Given the description of an element on the screen output the (x, y) to click on. 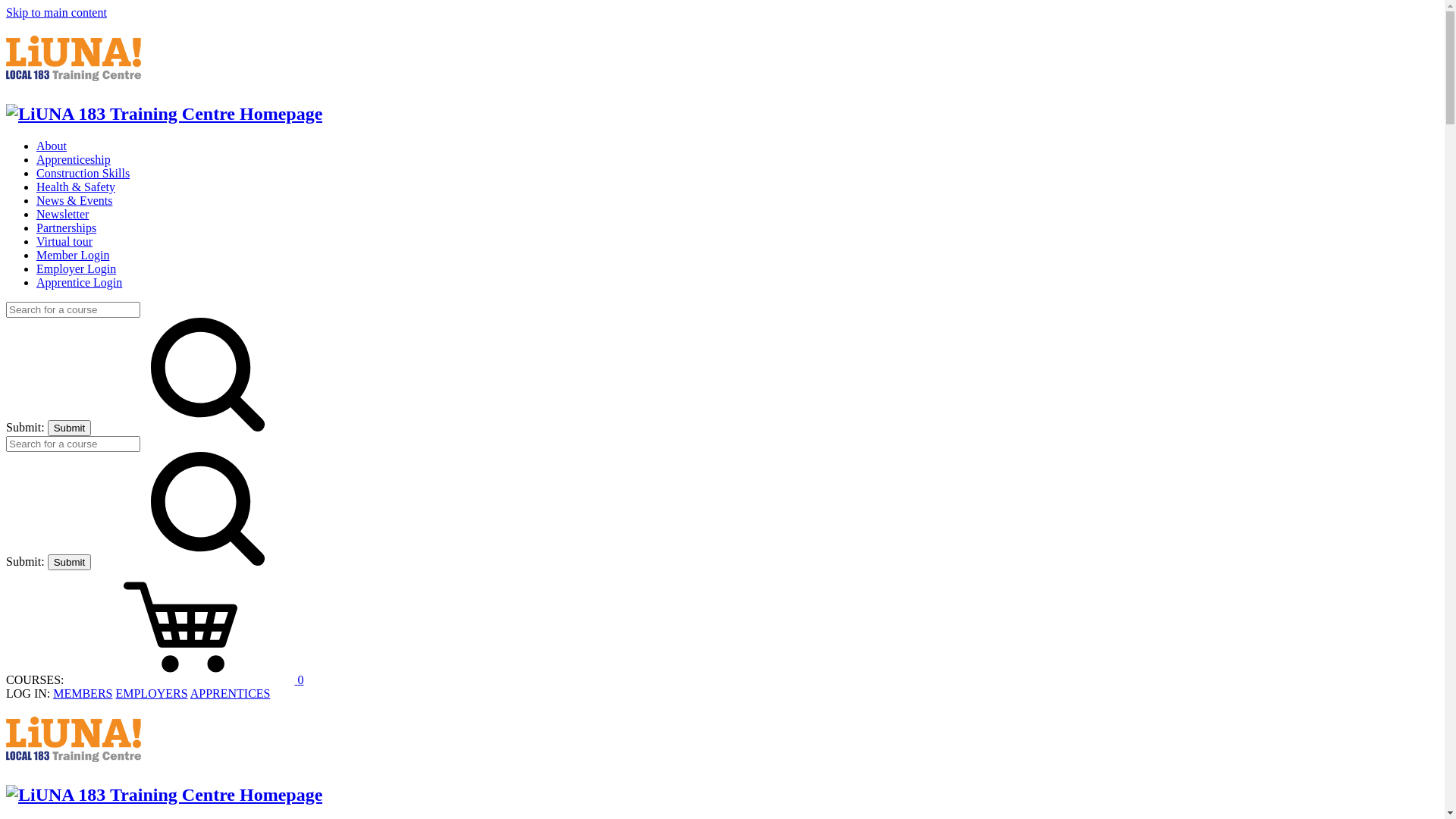
Employer Login Element type: text (76, 268)
About Element type: text (51, 145)
Skip to main content Element type: text (56, 12)
Virtual tour Element type: text (64, 241)
Member Login Element type: text (72, 254)
Submit search for a course Element type: hover (69, 428)
Submit search for a course Element type: hover (69, 562)
EMPLOYERS Element type: text (151, 693)
Newsletter Element type: text (62, 213)
Construction Skills Element type: text (82, 172)
Search for a course Element type: hover (73, 309)
Apprenticeship Element type: text (73, 159)
Apprentice Login Element type: text (79, 282)
MEMBERS Element type: text (82, 693)
Health & Safety Element type: text (75, 186)
Partnerships Element type: text (66, 227)
APPRENTICES Element type: text (230, 693)
News & Events Element type: text (74, 200)
Search for a course Element type: hover (73, 443)
0 Element type: text (184, 679)
